Given the description of an element on the screen output the (x, y) to click on. 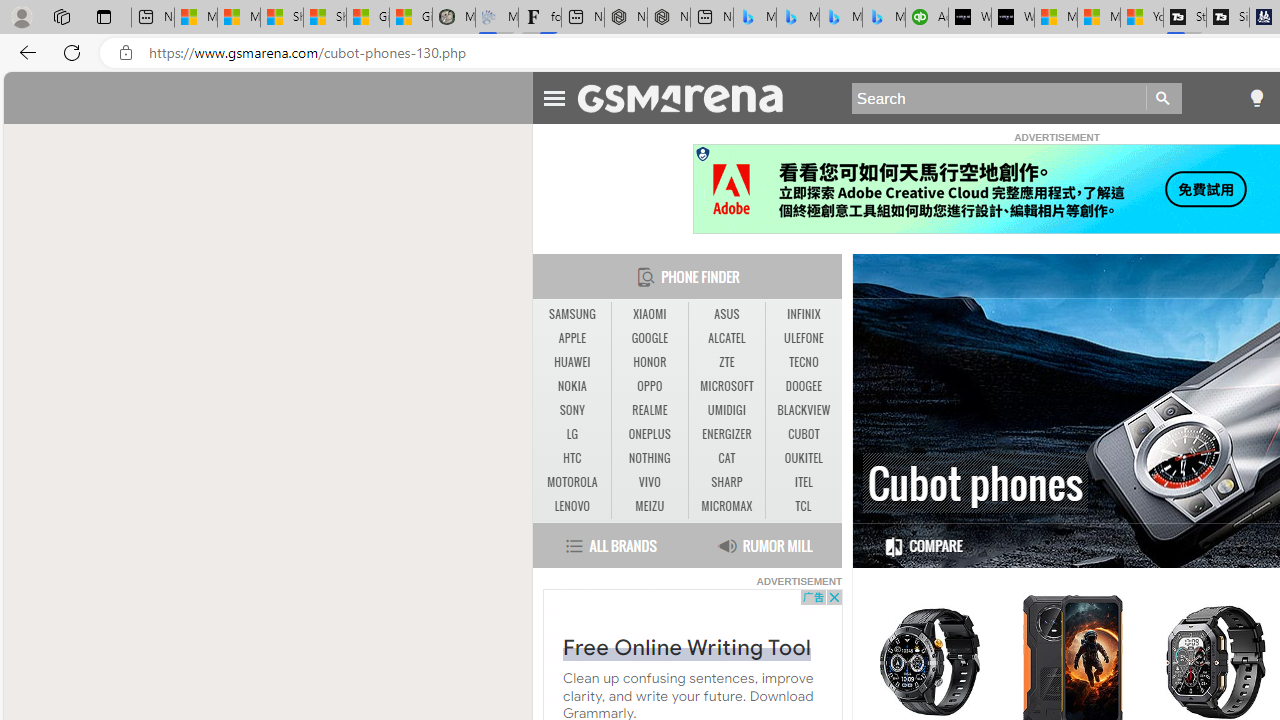
ONEPLUS (649, 434)
ENERGIZER (726, 434)
Gilma and Hector both pose tropical trouble for Hawaii (411, 17)
VIVO (649, 482)
Privacy Notification (702, 154)
MEIZU (649, 506)
ASUS (726, 313)
ITEL (803, 482)
APPLE (571, 339)
HTC (571, 458)
MICROSOFT (726, 385)
ASUS (726, 314)
SAMSUNG (571, 314)
OPPO (649, 385)
